Given the description of an element on the screen output the (x, y) to click on. 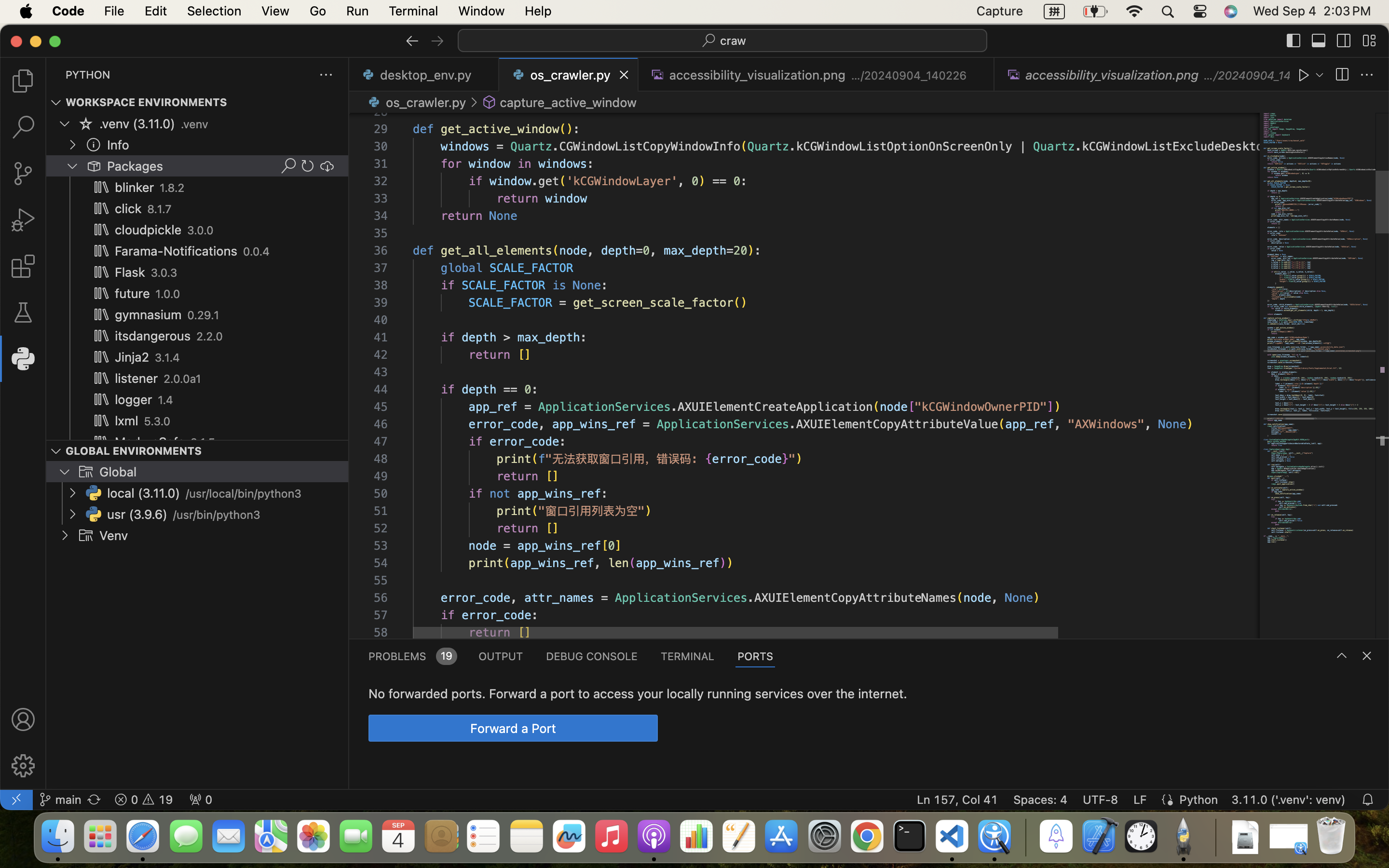
0  Element type: AXRadioButton (23, 266)
0  Element type: AXRadioButton (23, 312)
craw Element type: AXStaticText (733, 40)
0  Element type: AXRadioButton (23, 173)
 Element type: AXButton (412, 40)
